Given the description of an element on the screen output the (x, y) to click on. 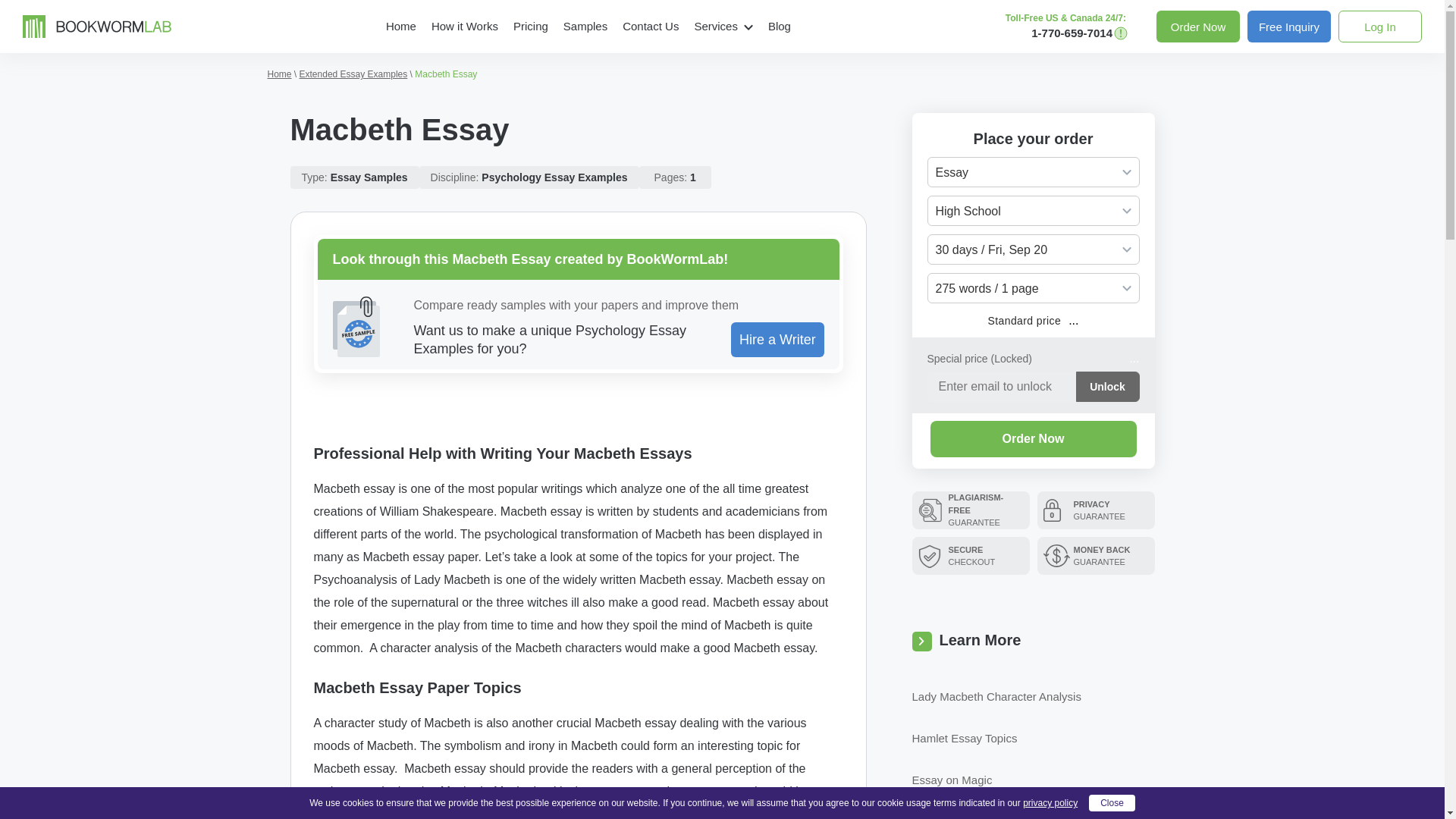
How it Works (464, 26)
Pricing (530, 26)
Home (400, 26)
Samples (585, 26)
Contact Us (649, 26)
Contact Us (649, 26)
How it Works (464, 26)
Bookwormlab.com (97, 24)
Pricing (530, 26)
Home (400, 26)
